Given the description of an element on the screen output the (x, y) to click on. 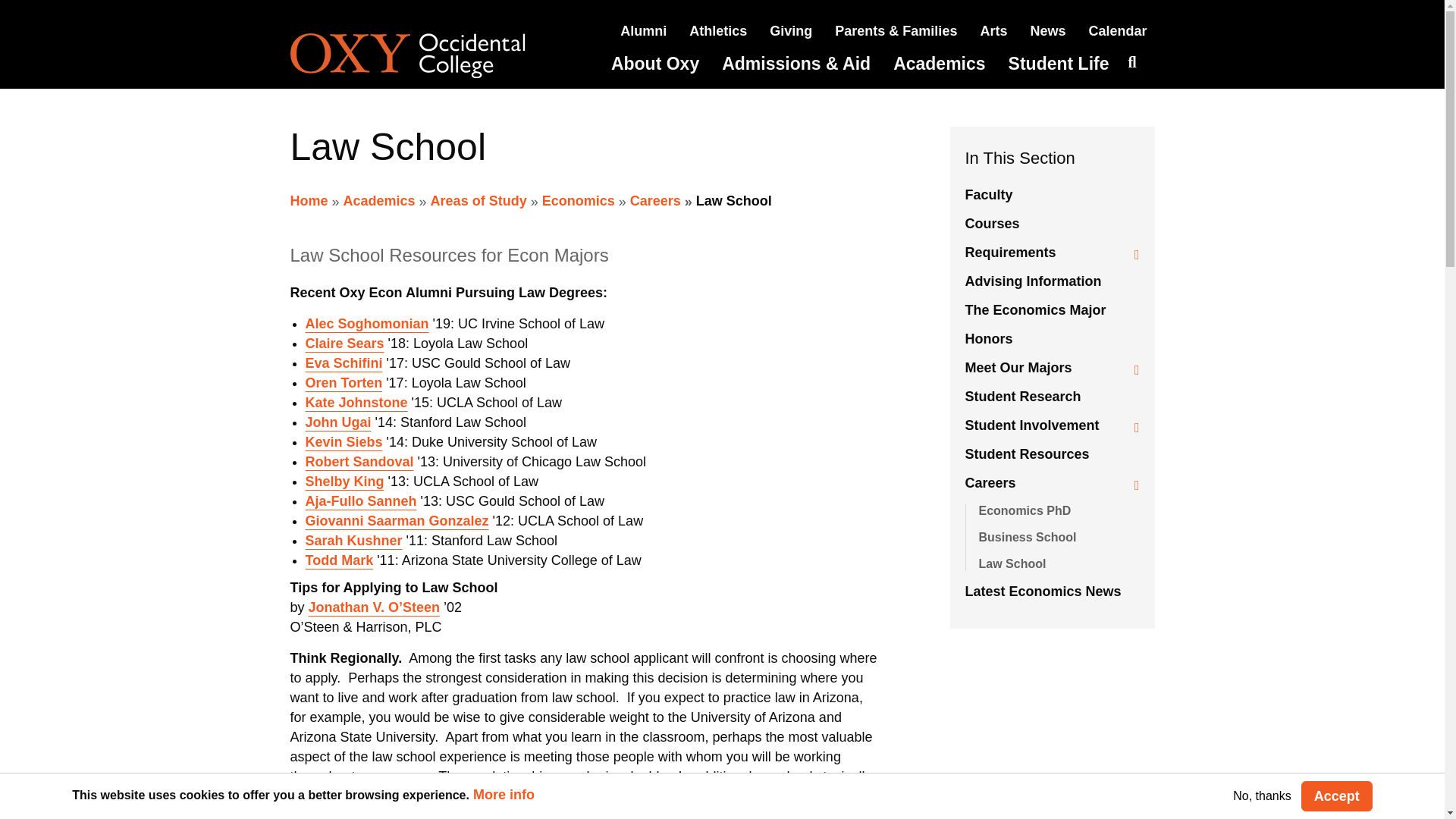
About Oxy (654, 63)
Home (428, 55)
Arts (993, 30)
Athletics (717, 30)
Student Life (1059, 63)
Giving (791, 30)
Academics (938, 63)
Calendar (1117, 30)
News (1047, 30)
Alumni (643, 30)
